Given the description of an element on the screen output the (x, y) to click on. 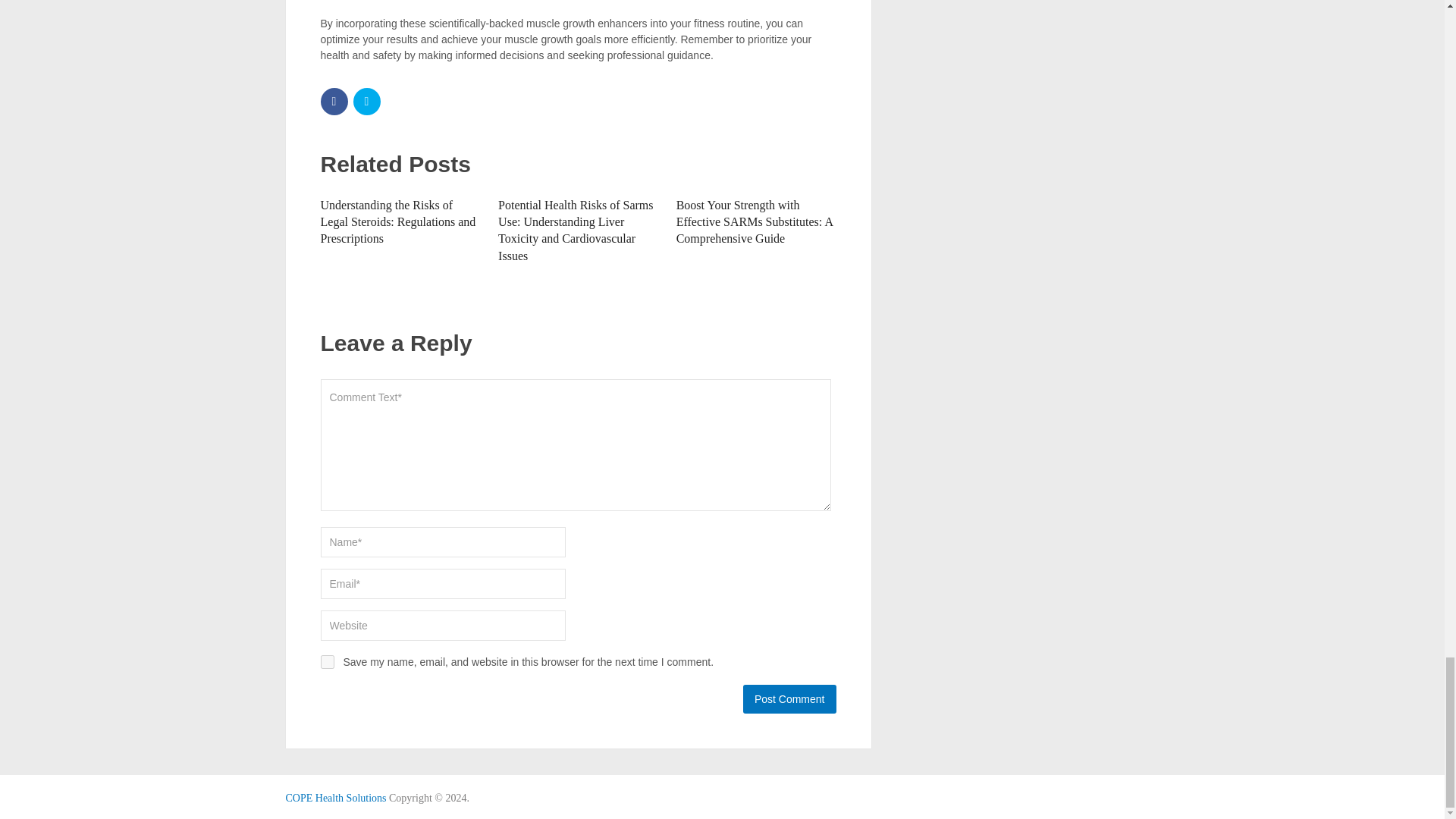
Post Comment (788, 698)
Post Comment (788, 698)
yes (326, 662)
